Given the description of an element on the screen output the (x, y) to click on. 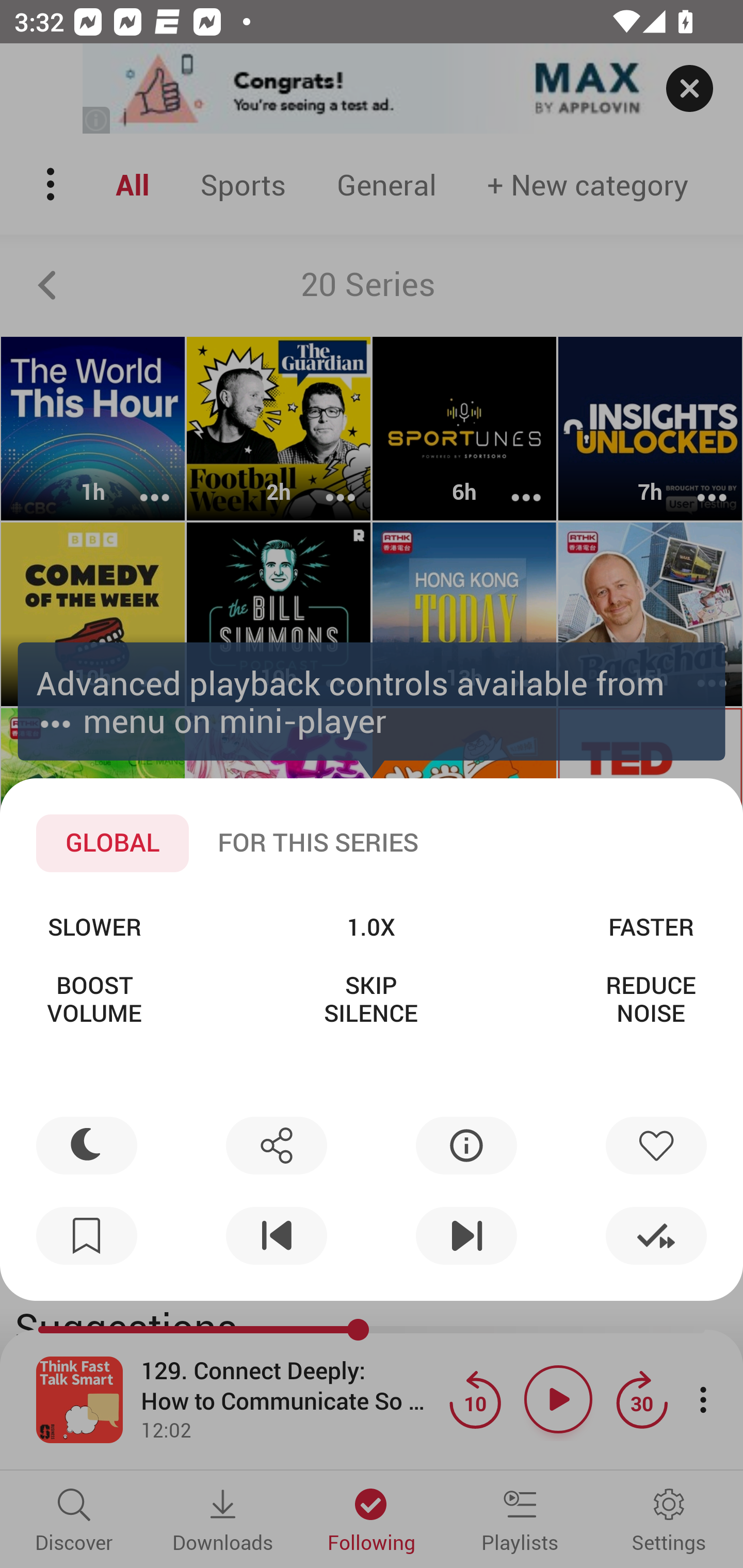
GLOBAL (112, 842)
FOR THIS SERIES (317, 842)
SLOWER (94, 926)
1.0X (370, 926)
FASTER (650, 926)
BOOST
VOLUME (94, 998)
SKIP
SILENCE (370, 998)
REDUCE
NOISE (650, 998)
Sleep timer (86, 1145)
Share (275, 1145)
Info (466, 1145)
Like (655, 1145)
New bookmark … (86, 1236)
Previous (275, 1236)
Next (466, 1236)
Mark played and next (655, 1236)
